Given the description of an element on the screen output the (x, y) to click on. 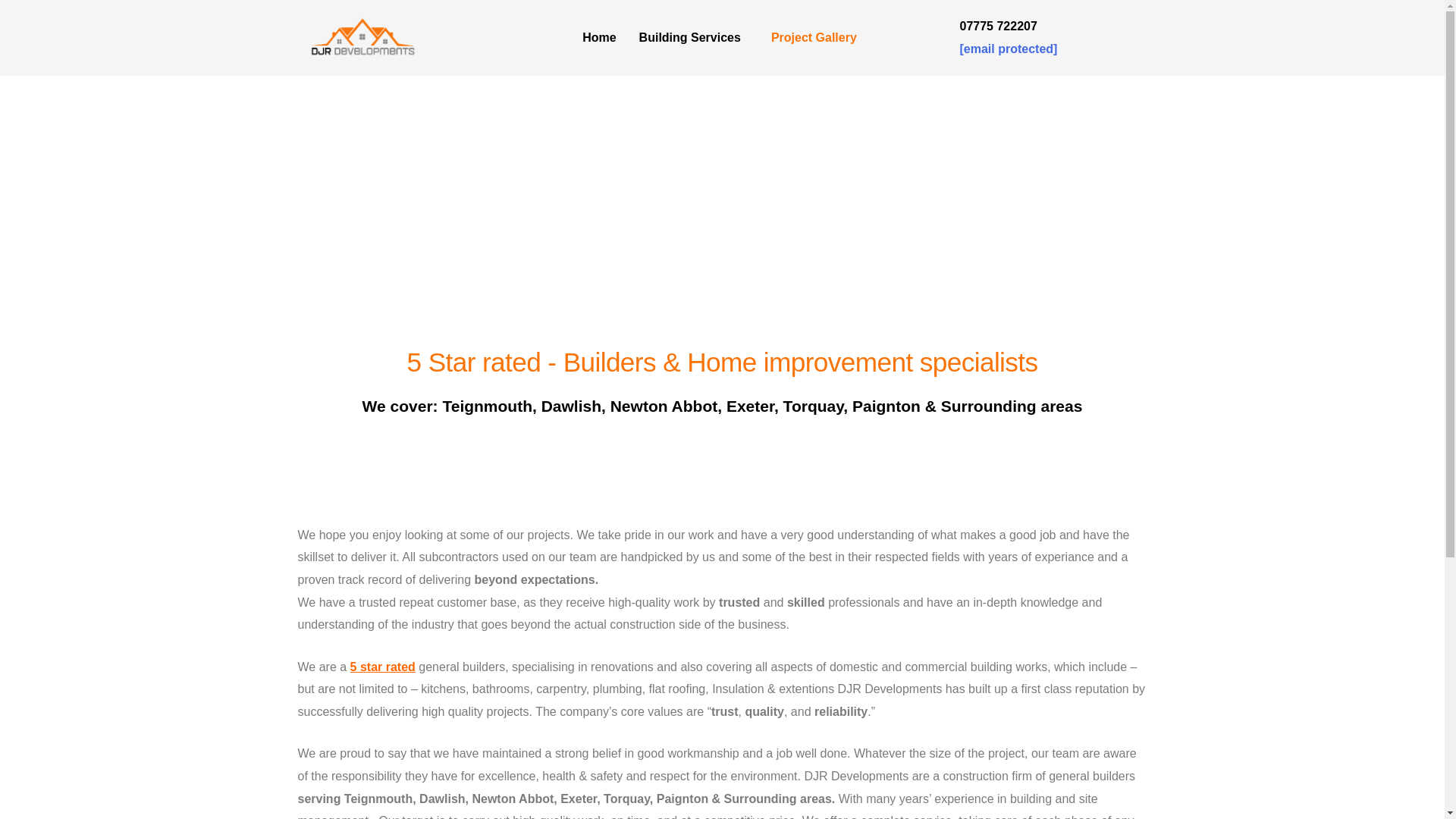
Building Services (693, 37)
Home (598, 37)
5 star rated (382, 666)
Project Gallery (813, 37)
